Given the description of an element on the screen output the (x, y) to click on. 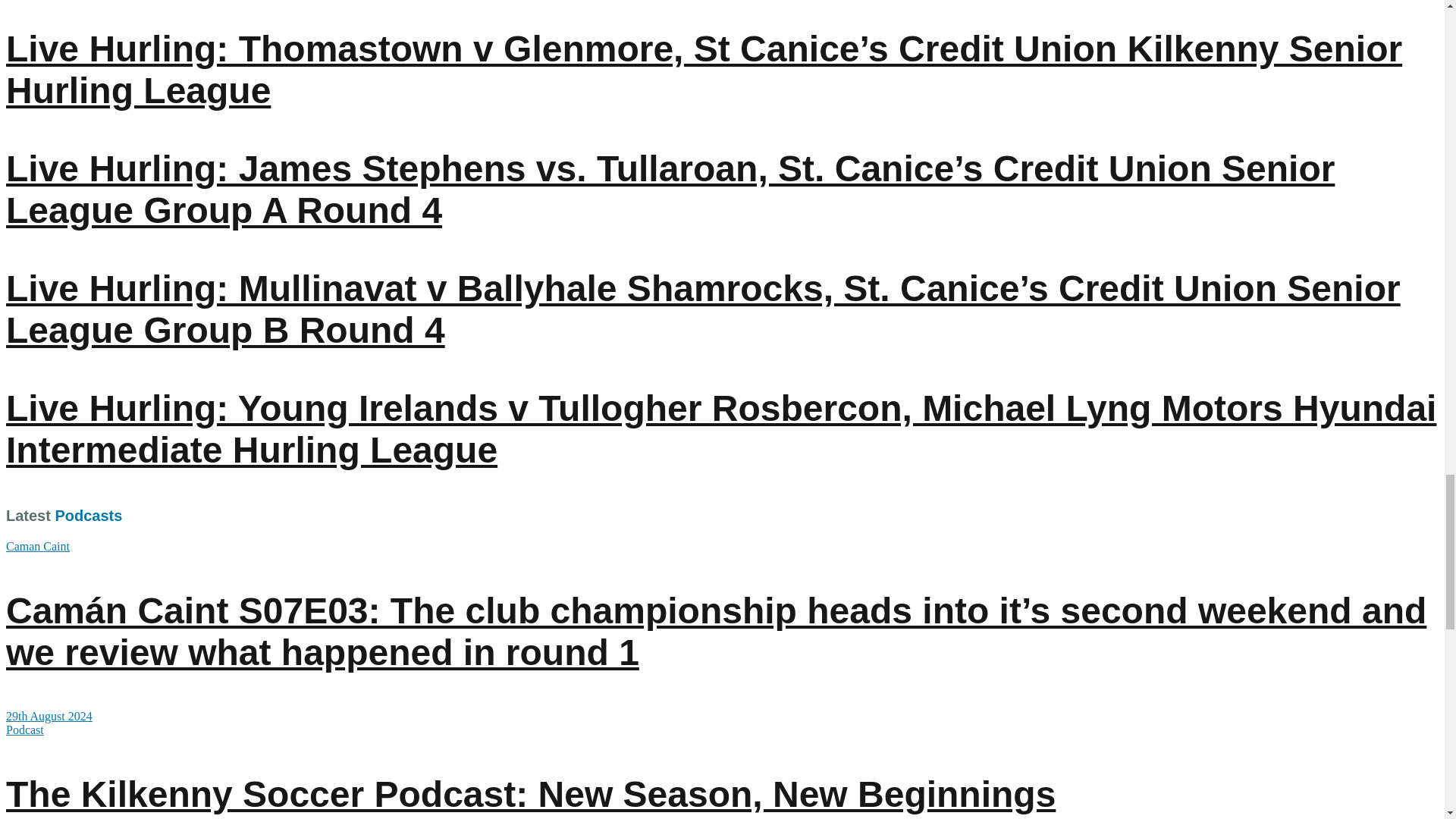
The Kilkenny Soccer Podcast: New Season, New Beginnings (530, 793)
Caman Caint (37, 545)
29th August 2024 (49, 716)
Podcast (24, 729)
